Given the description of an element on the screen output the (x, y) to click on. 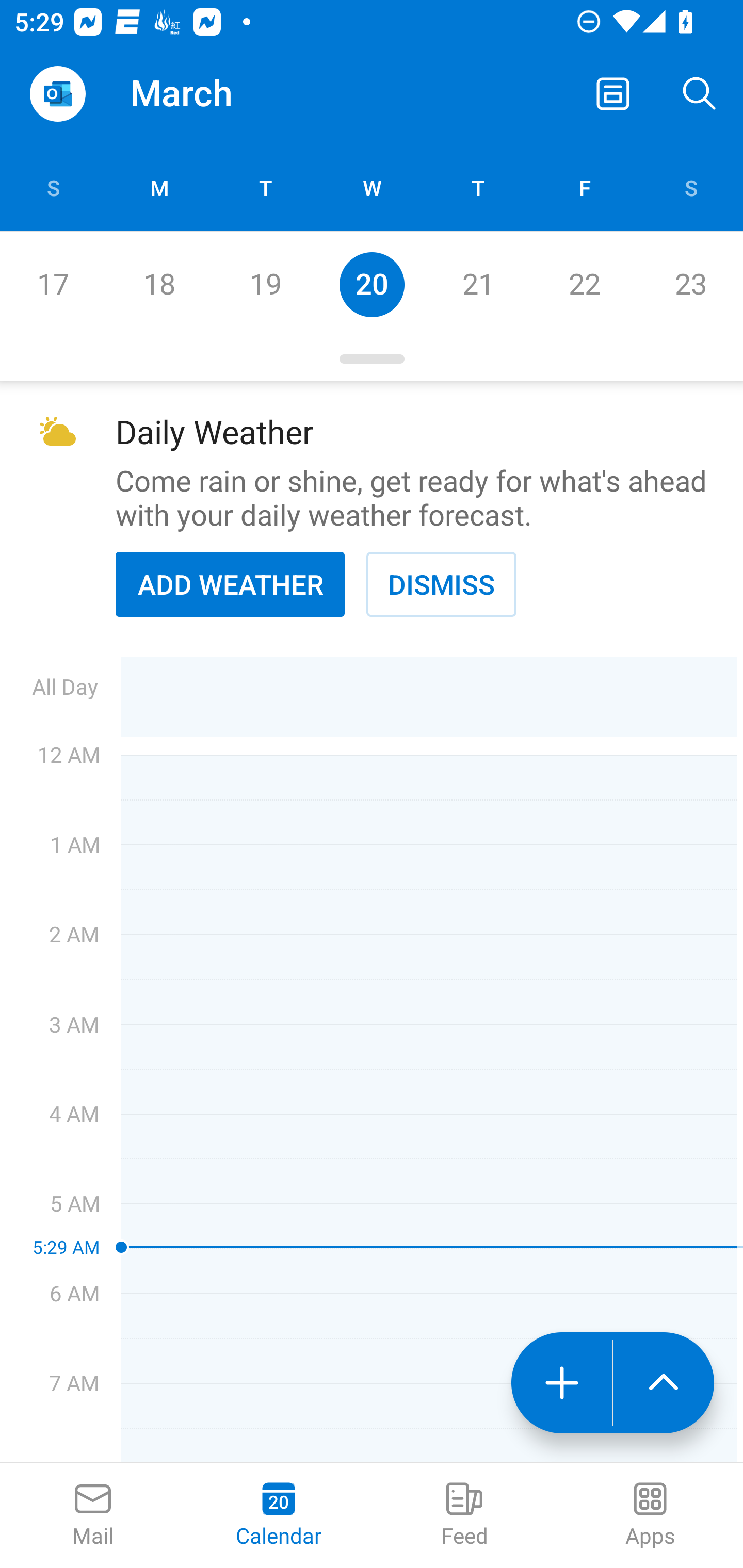
March March 2024, day picker (209, 93)
Switch away from Day view (612, 93)
Search, ,  (699, 93)
Open Navigation Drawer (57, 94)
17 Sunday, March 17 (53, 284)
18 Monday, March 18 (159, 284)
19 Tuesday, March 19 (265, 284)
20 Wednesday, March 20, today, Selected (371, 284)
21 Thursday, March 21 (477, 284)
22 Friday, March 22 (584, 284)
23 Saturday, March 23 (690, 284)
Day picker (371, 359)
ADD WEATHER (230, 583)
DISMISS (440, 583)
New event (561, 1382)
launch the extended action menu (663, 1382)
Mail (92, 1515)
Feed (464, 1515)
Apps (650, 1515)
